Given the description of an element on the screen output the (x, y) to click on. 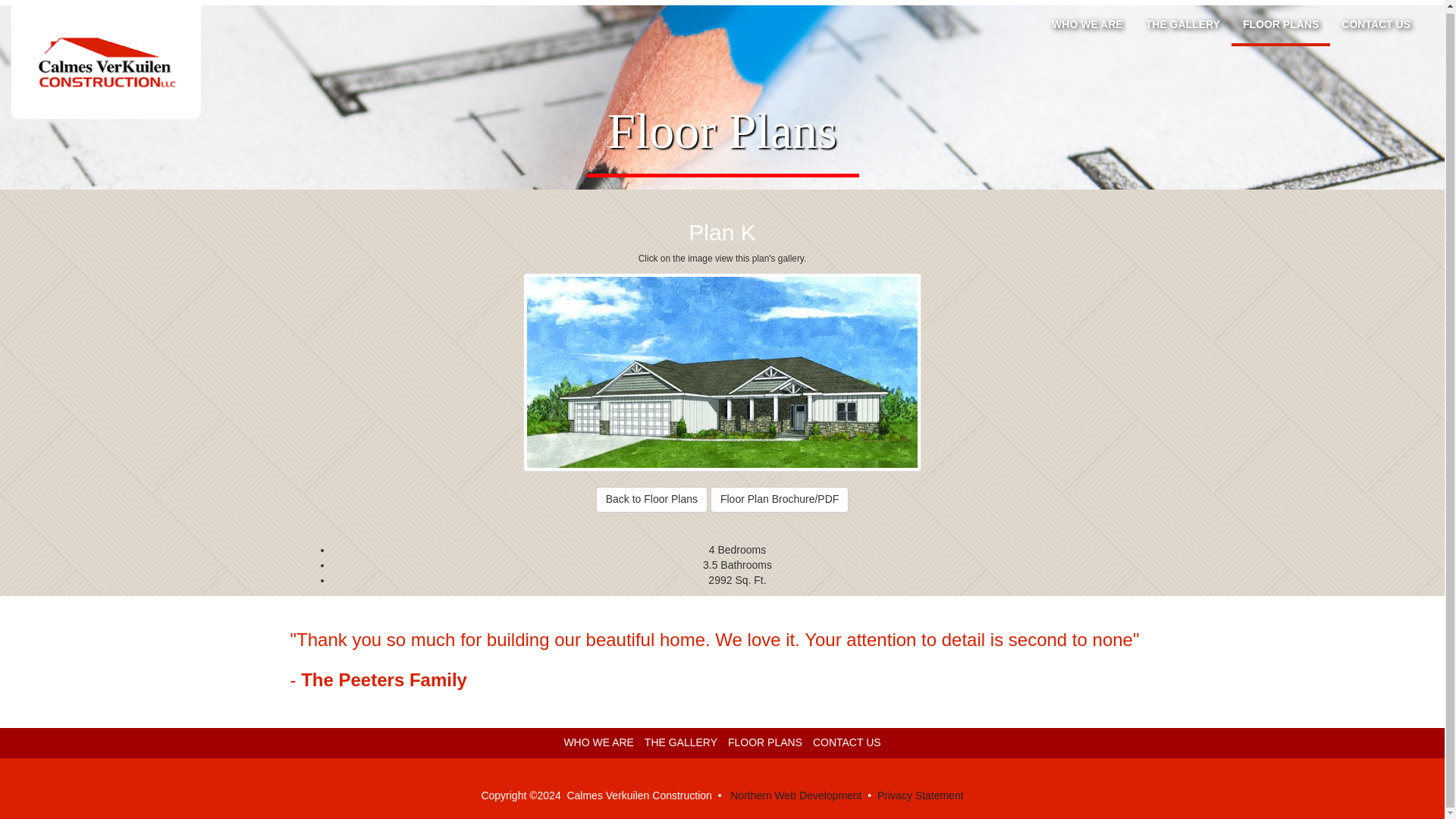
Privacy Statement (920, 795)
THE GALLERY (681, 742)
CONTACT US (846, 742)
WHO WE ARE (598, 742)
Northern Web Development (795, 795)
CONTACT US (1376, 23)
FLOOR PLANS (765, 742)
THE GALLERY (1182, 23)
FLOOR PLANS (1280, 24)
Back to Floor Plans (651, 499)
WHO WE ARE (1087, 23)
